Given the description of an element on the screen output the (x, y) to click on. 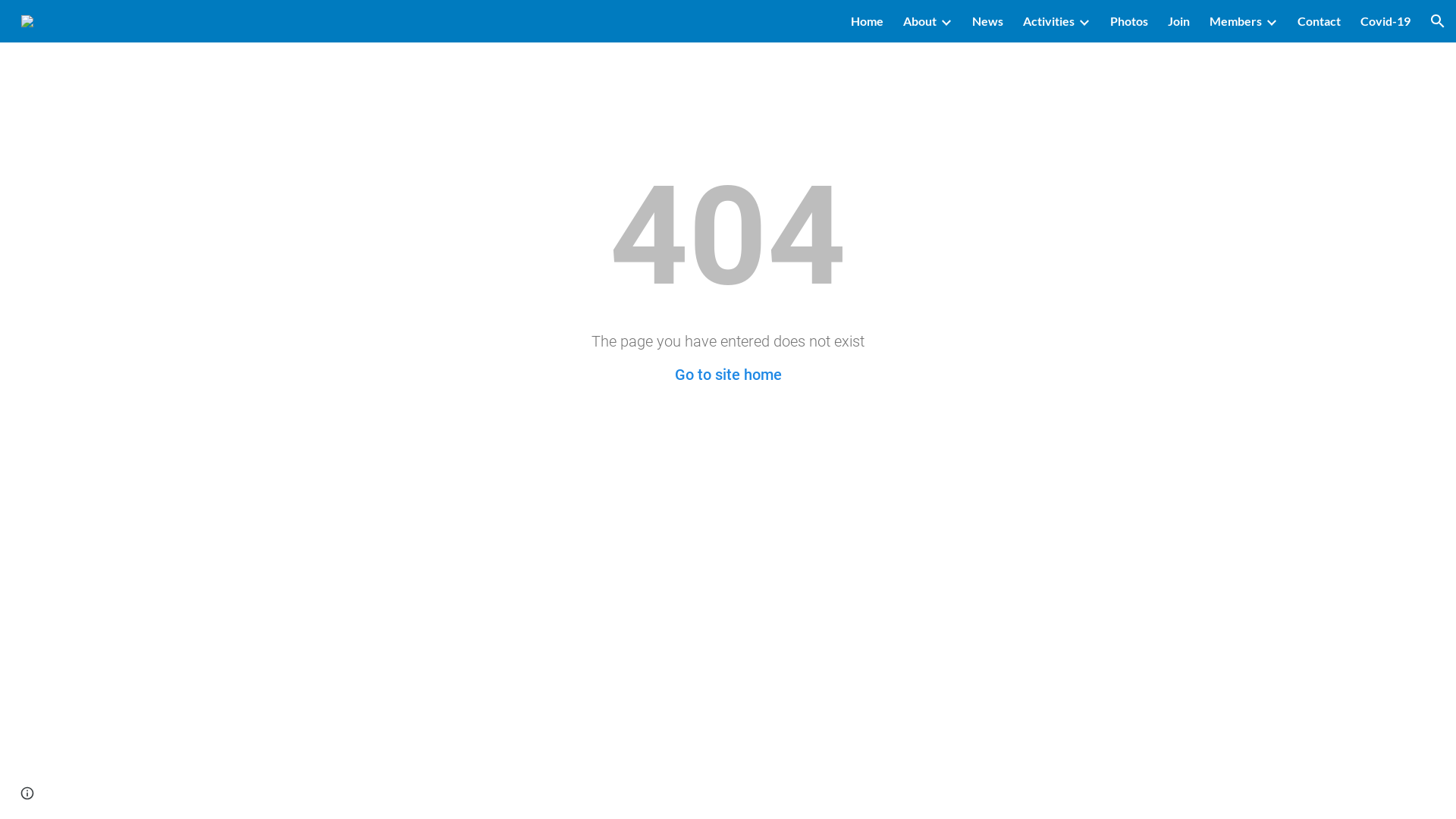
Activities Element type: text (1048, 20)
Contact Element type: text (1318, 20)
Expand/Collapse Element type: hover (1270, 20)
Join Element type: text (1178, 20)
News Element type: text (987, 20)
Go to site home Element type: text (727, 374)
Expand/Collapse Element type: hover (1083, 20)
About Element type: text (919, 20)
Photos Element type: text (1129, 20)
Members Element type: text (1235, 20)
Home Element type: text (866, 20)
Expand/Collapse Element type: hover (945, 20)
Covid-19 Element type: text (1385, 20)
